Given the description of an element on the screen output the (x, y) to click on. 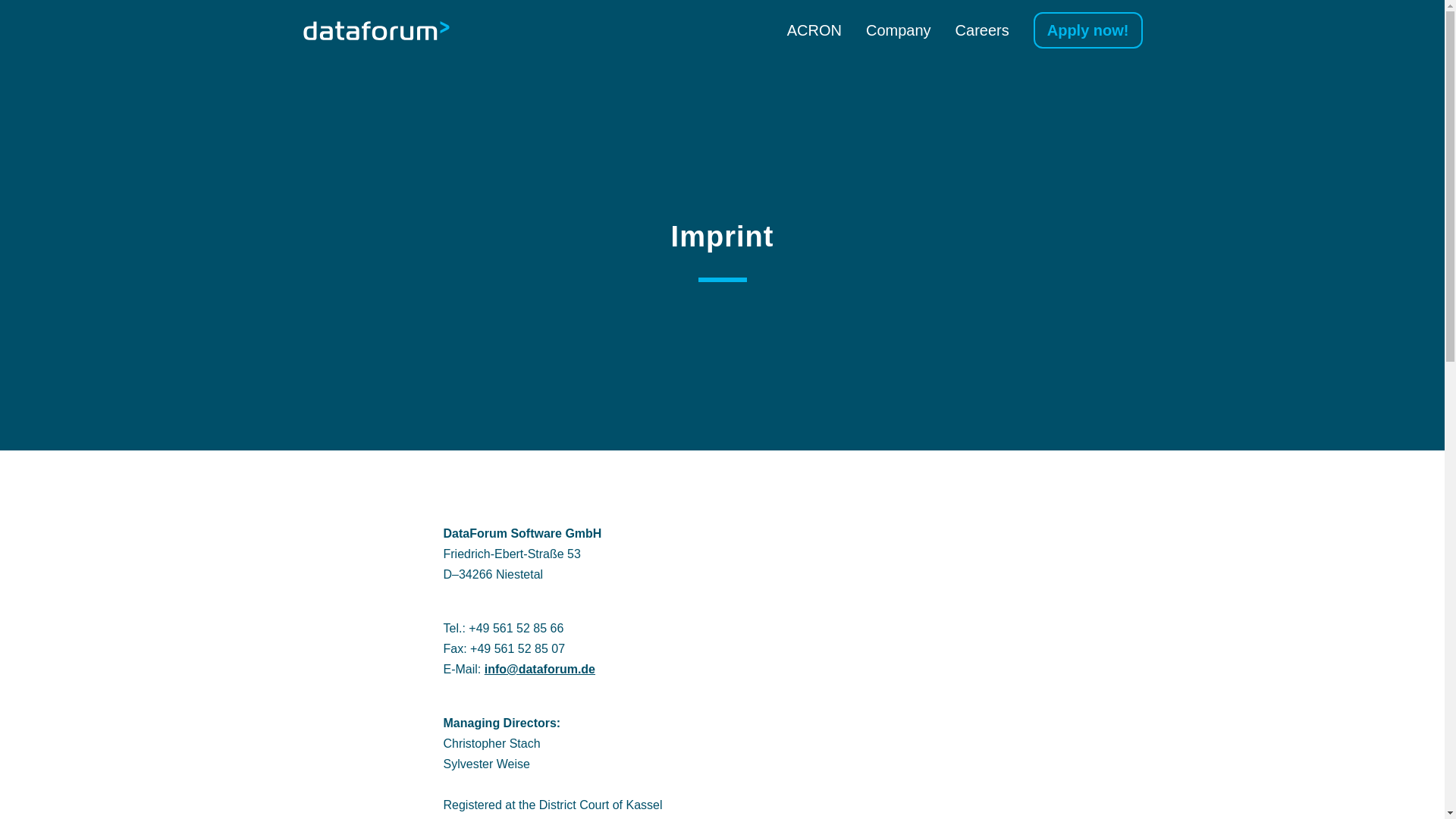
Apply now! (1087, 30)
dataforum (375, 30)
Careers (982, 29)
ACRON (814, 29)
Company (898, 29)
